Given the description of an element on the screen output the (x, y) to click on. 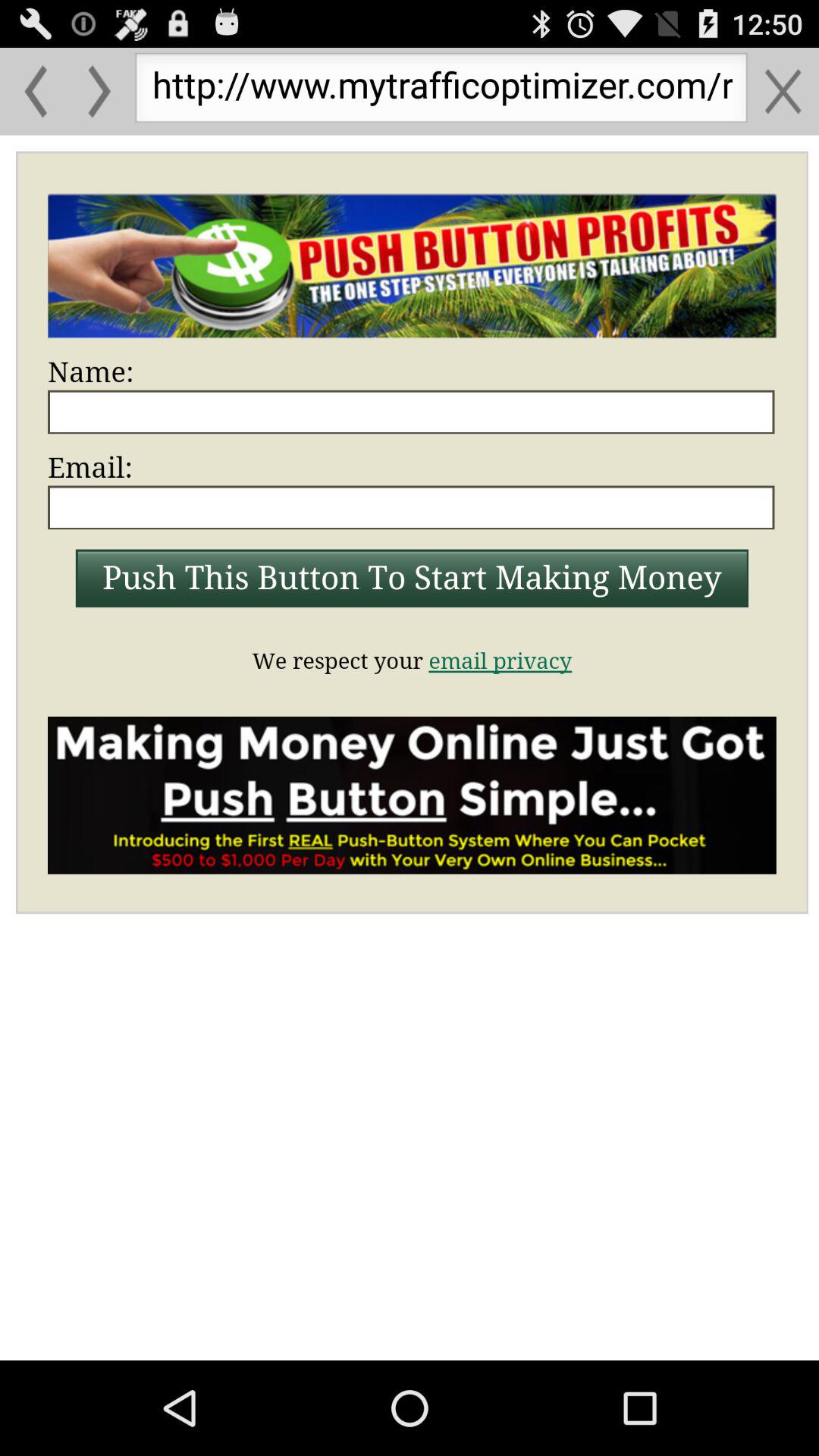
the button is used to close the page (783, 91)
